Given the description of an element on the screen output the (x, y) to click on. 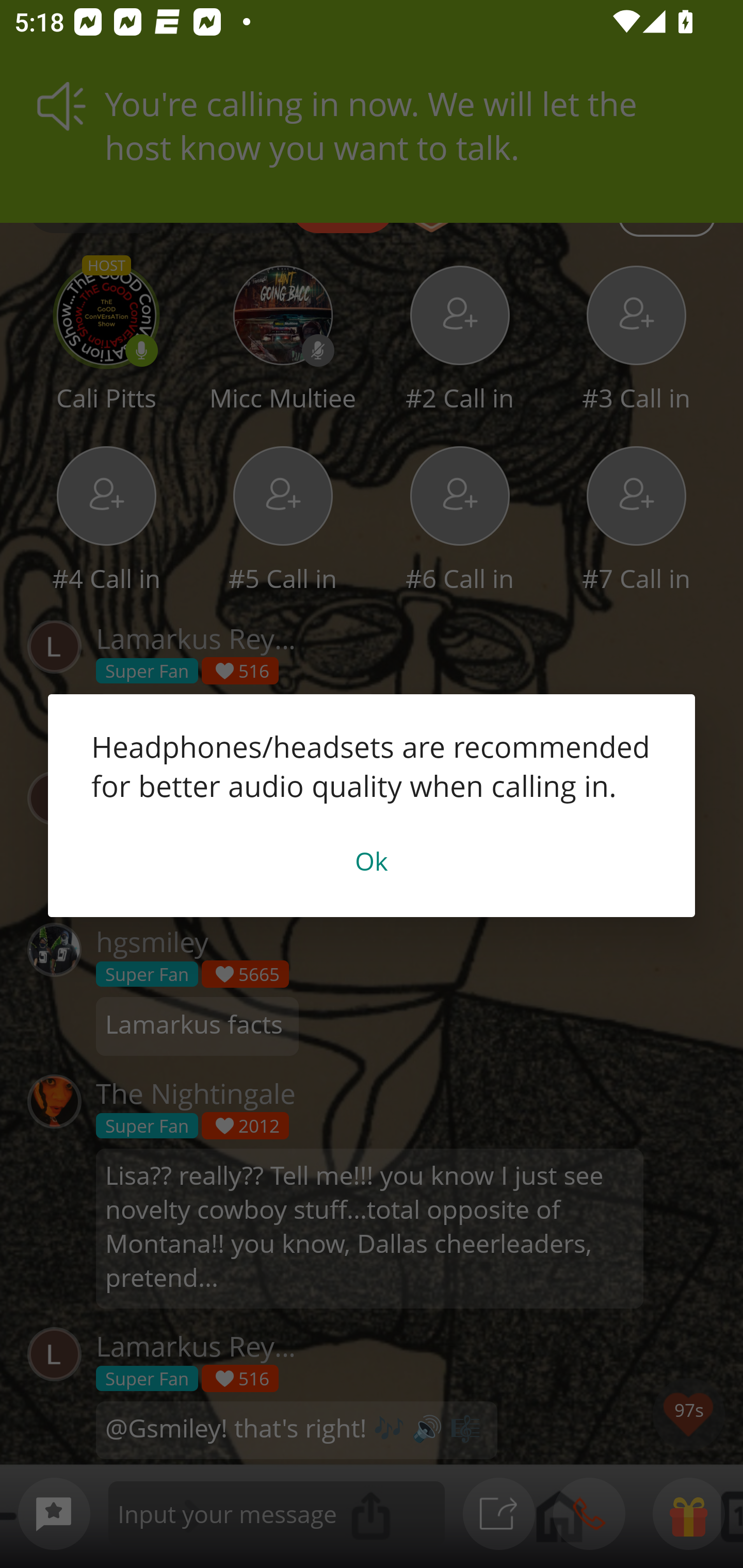
Ok (371, 860)
